Given the description of an element on the screen output the (x, y) to click on. 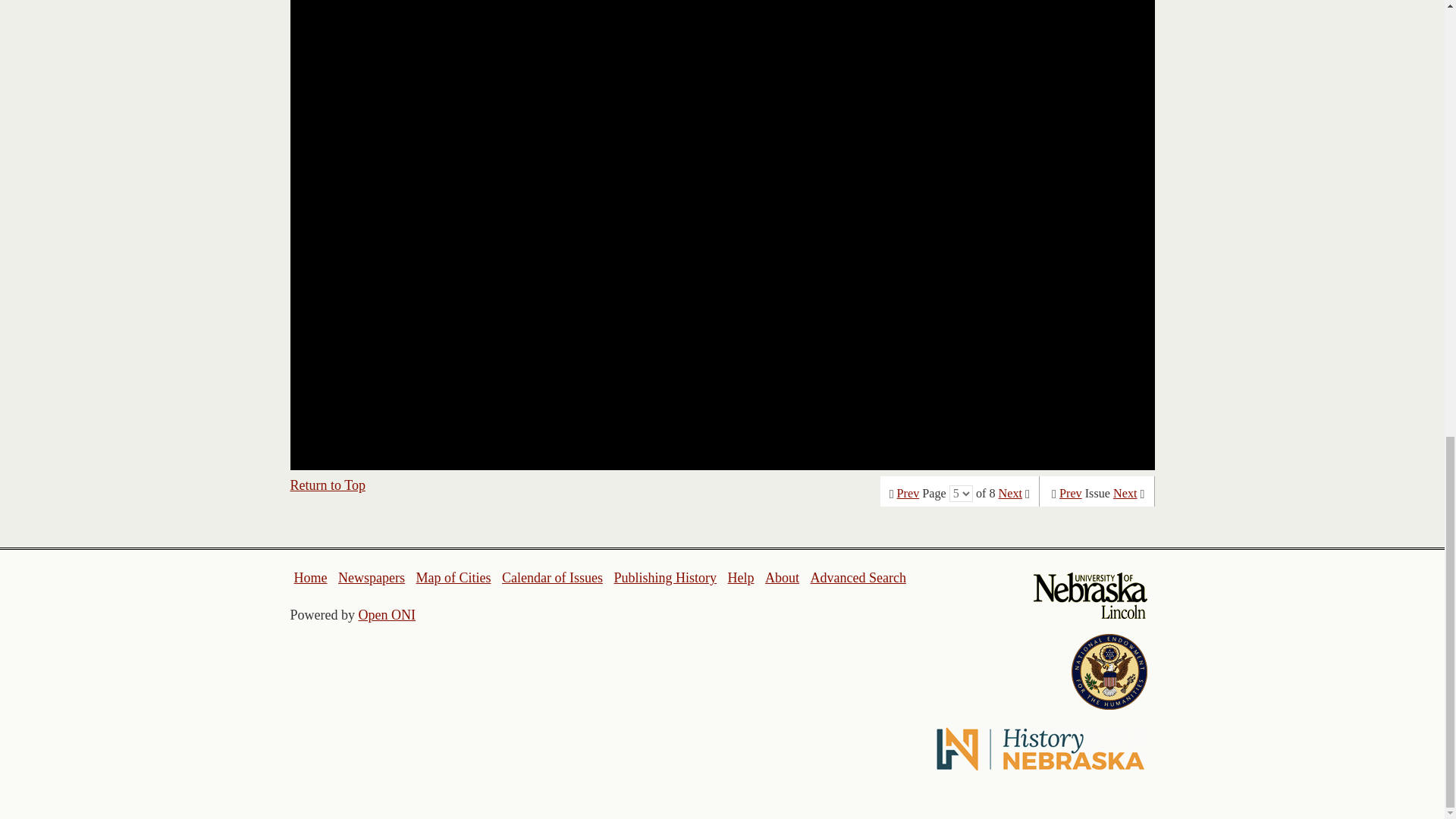
Next (1010, 493)
Return to Top (327, 485)
Map of Cities (452, 577)
Help (740, 577)
Open ONI (386, 614)
Next (1125, 493)
About (782, 577)
Prev (908, 493)
Newspapers (370, 577)
Calendar of Issues (552, 577)
